Given the description of an element on the screen output the (x, y) to click on. 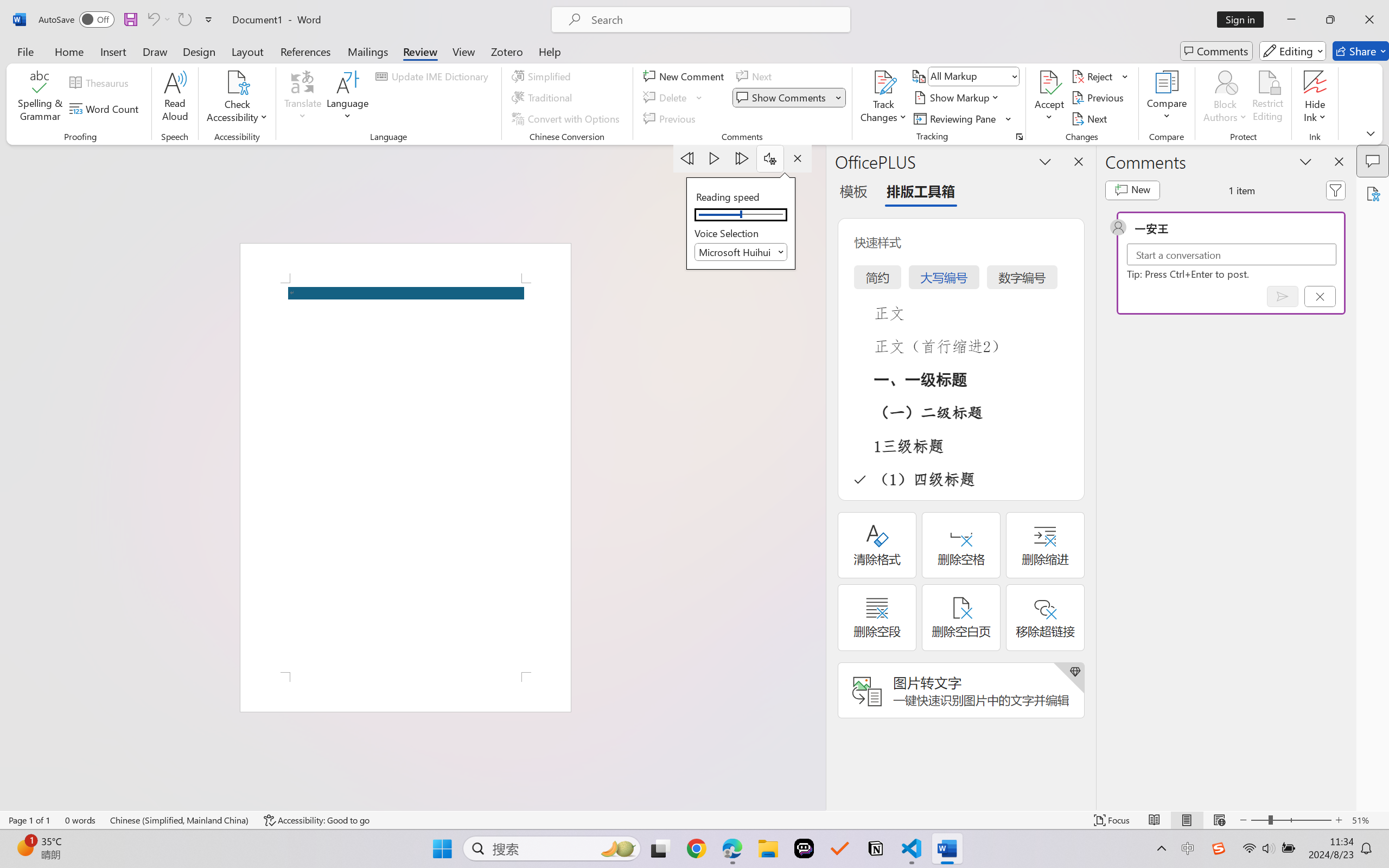
Delete (666, 97)
Show Comments (788, 97)
Stop (797, 158)
Filter (1335, 190)
Simplified (542, 75)
Hide Ink (1315, 97)
